Given the description of an element on the screen output the (x, y) to click on. 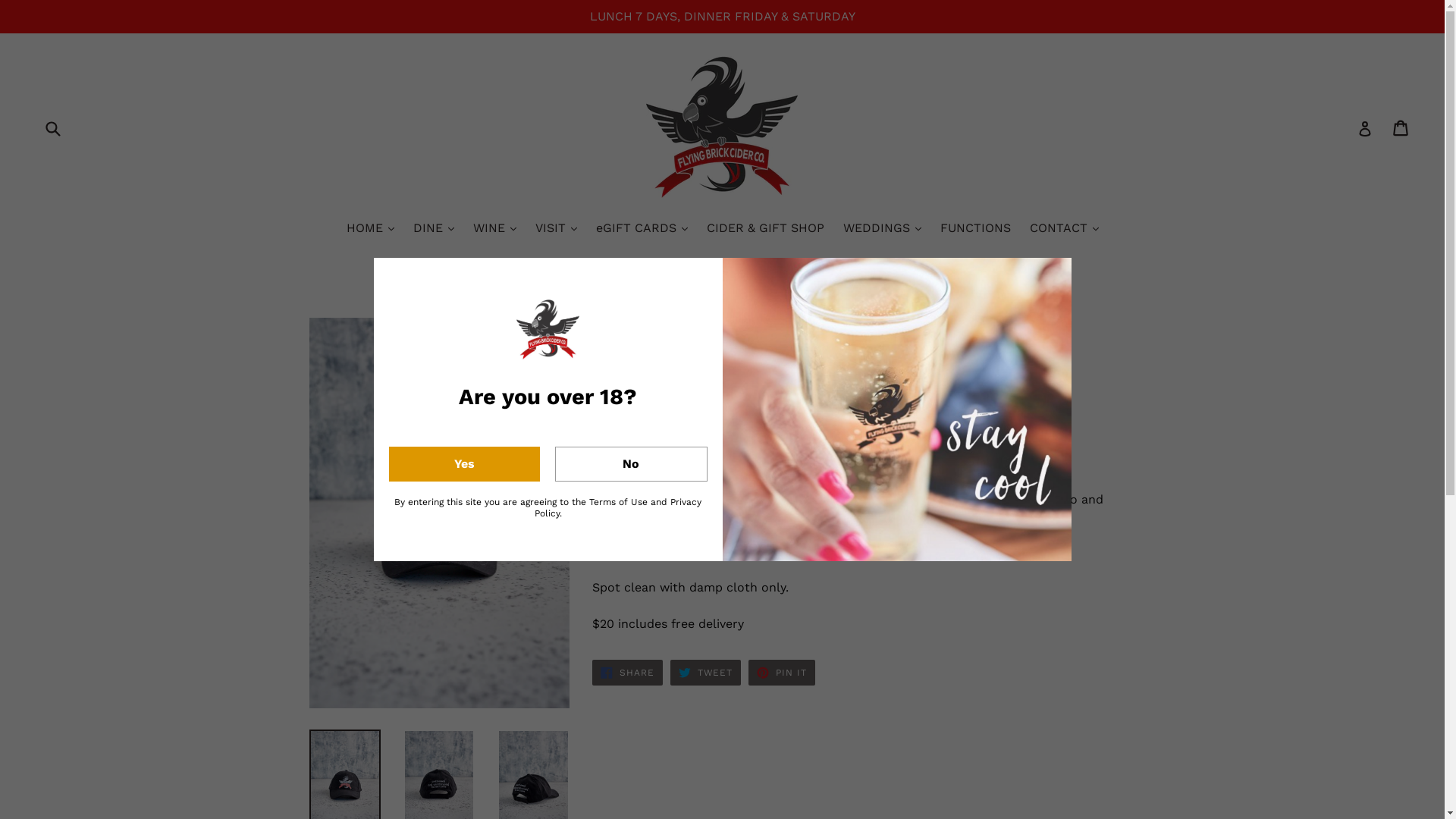
Cart
Cart Element type: text (1401, 127)
Terms of Use Element type: text (618, 501)
No Element type: text (630, 463)
SHARE
SHARE ON FACEBOOK Element type: text (627, 672)
ADD TO CART Element type: text (781, 452)
LUNCH 7 DAYS, DINNER FRIDAY & SATURDAY Element type: text (722, 16)
Log in Element type: text (1364, 127)
PIN IT
PIN ON PINTEREST Element type: text (781, 672)
Submit Element type: text (51, 127)
TWEET
TWEET ON TWITTER Element type: text (705, 672)
Yes Element type: text (463, 463)
FUNCTIONS Element type: text (975, 229)
Privacy Policy Element type: text (617, 507)
CIDER & GIFT SHOP Element type: text (765, 229)
